Given the description of an element on the screen output the (x, y) to click on. 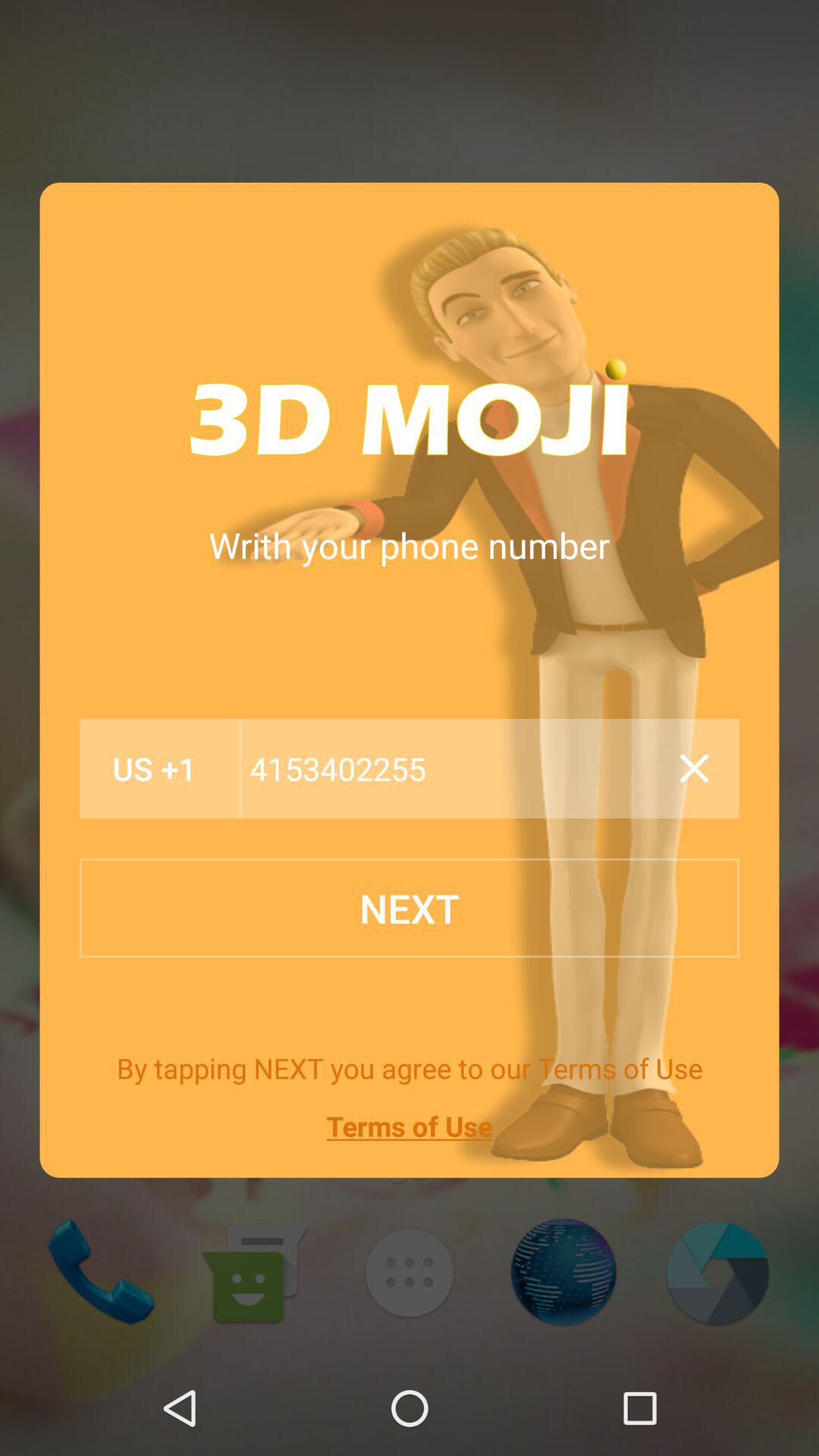
swipe to 4153402255 item (454, 768)
